Given the description of an element on the screen output the (x, y) to click on. 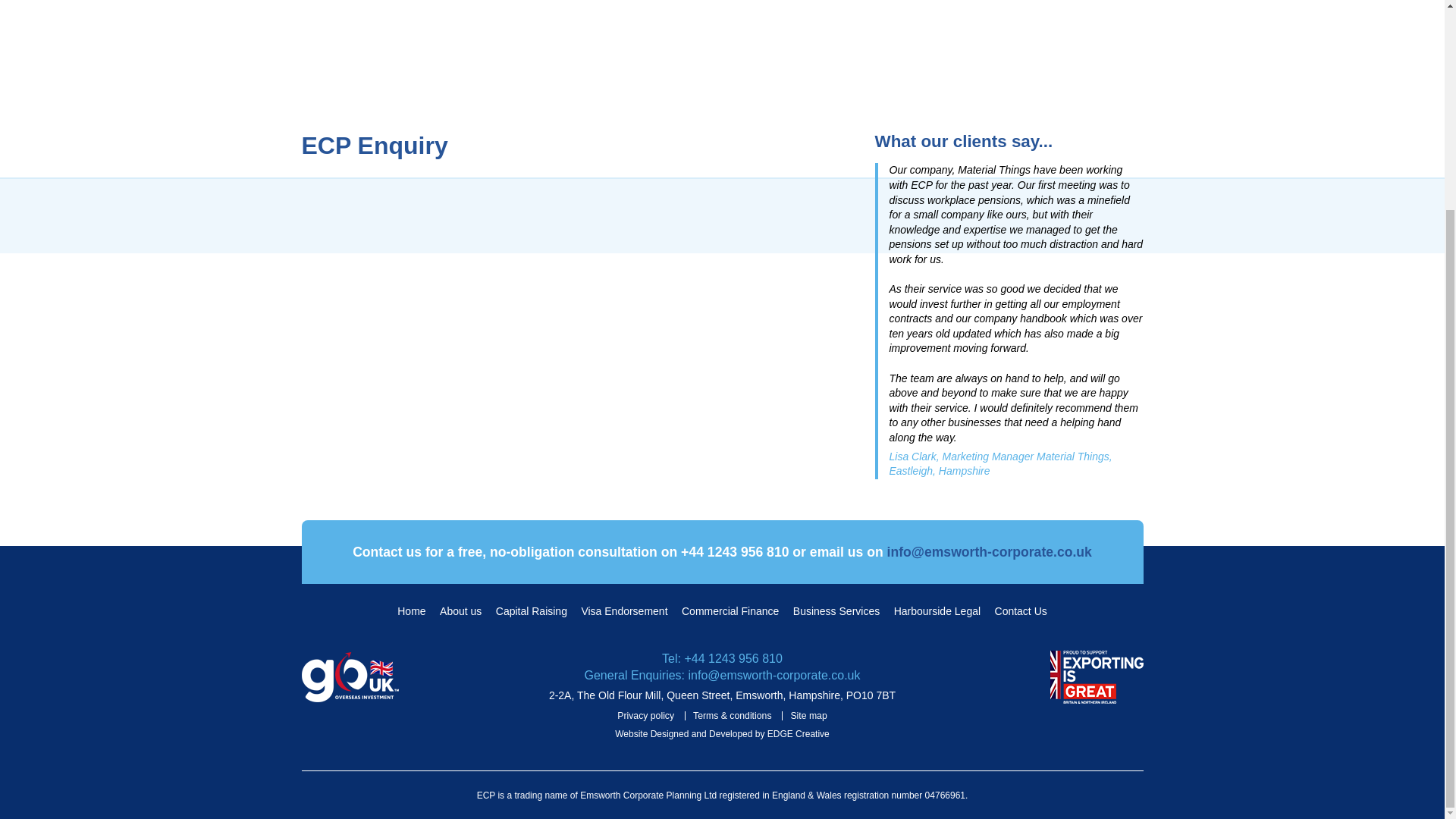
Website Designed and Developed by EDGE Creative (721, 734)
Capital Raising (531, 611)
Contact Us (1020, 611)
About us (460, 611)
Visa Endorsement (623, 611)
Visa Endorsement (623, 611)
Home (411, 611)
Site map (808, 715)
Capital Raising (531, 611)
About us (460, 611)
